Given the description of an element on the screen output the (x, y) to click on. 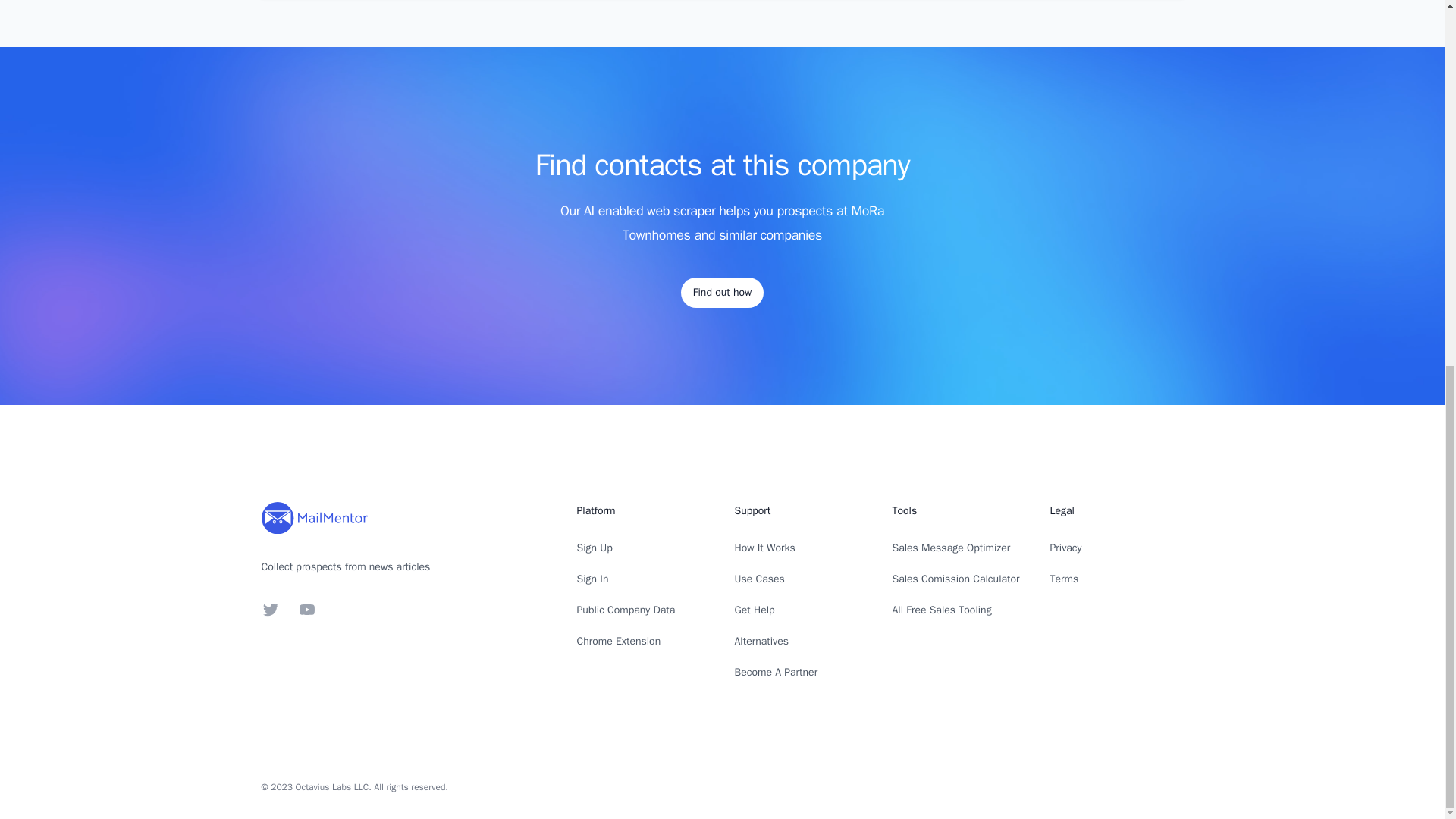
Public Company Data (625, 609)
Sign In (592, 578)
Alternatives (761, 640)
All Free Sales Tooling (941, 609)
Chrome Extension (618, 640)
Sales Comission Calculator (955, 578)
Find out how (721, 292)
YouTube (306, 609)
Become A Partner (774, 671)
Terms (1063, 578)
